Given the description of an element on the screen output the (x, y) to click on. 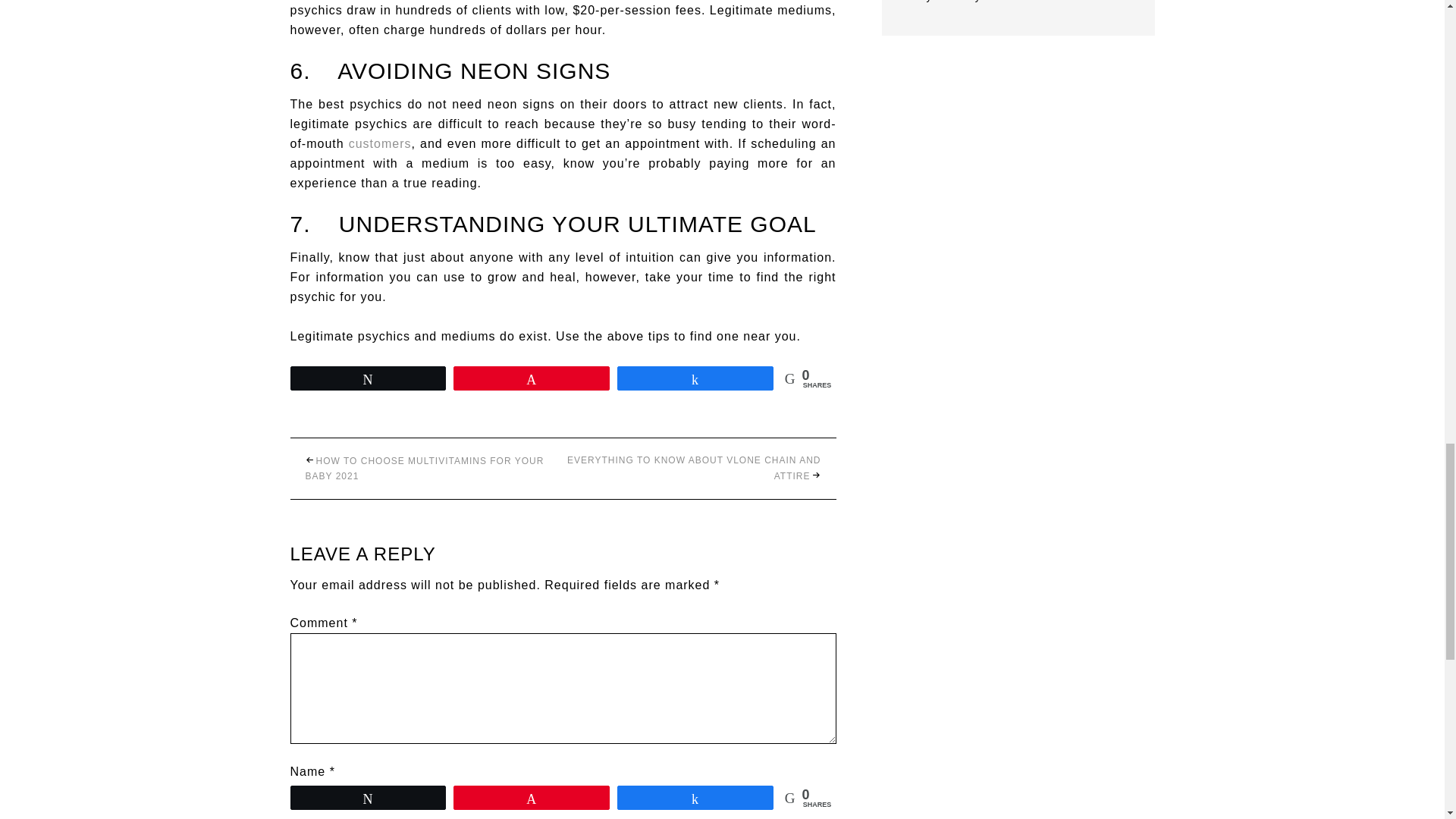
EVERYTHING TO KNOW ABOUT VLONE CHAIN AND ATTIRE (694, 468)
HOW TO CHOOSE MULTIVITAMINS FOR YOUR BABY 2021 (423, 468)
customers (380, 143)
